Given the description of an element on the screen output the (x, y) to click on. 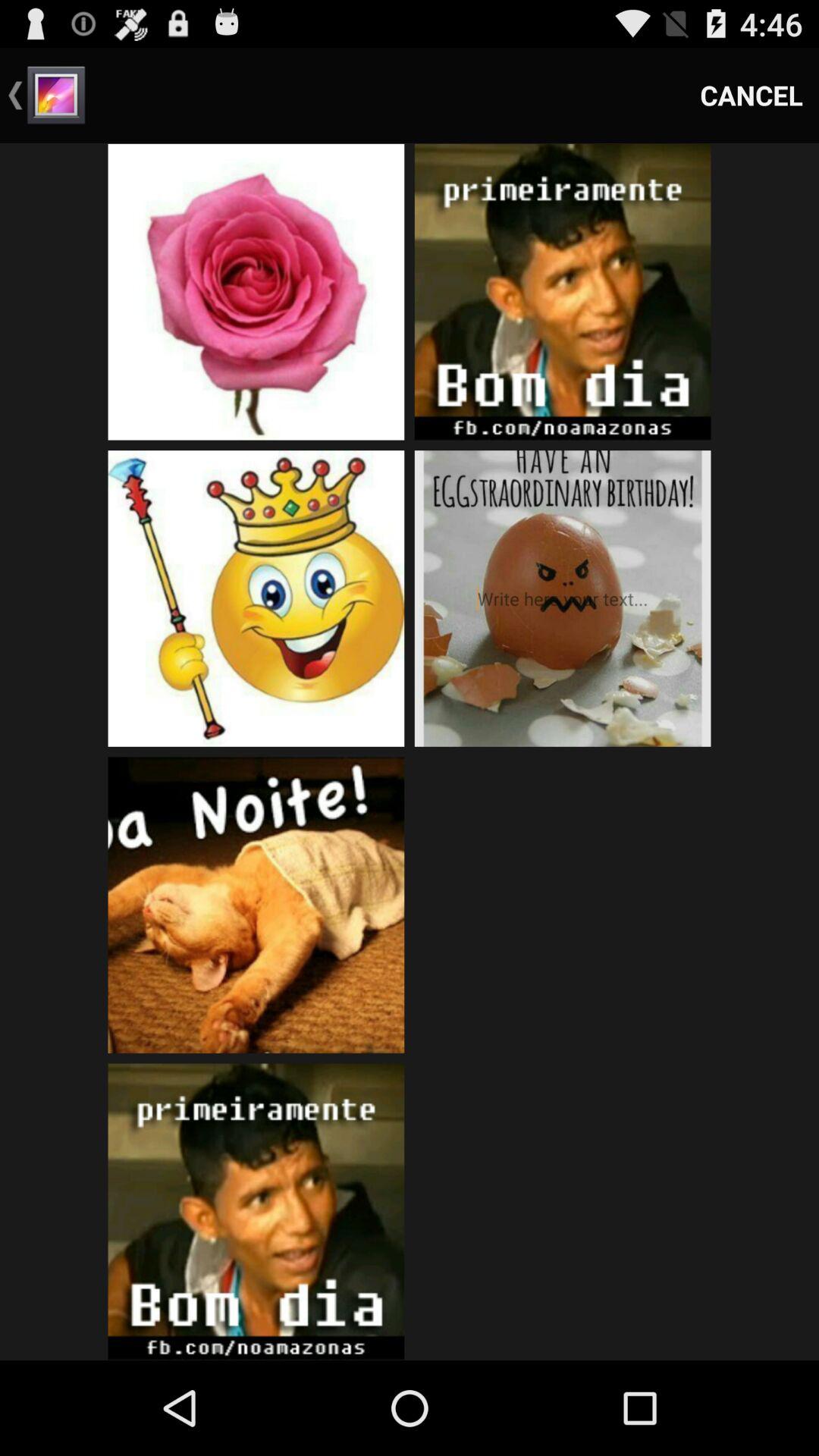
turn off icon at the top right corner (751, 95)
